Given the description of an element on the screen output the (x, y) to click on. 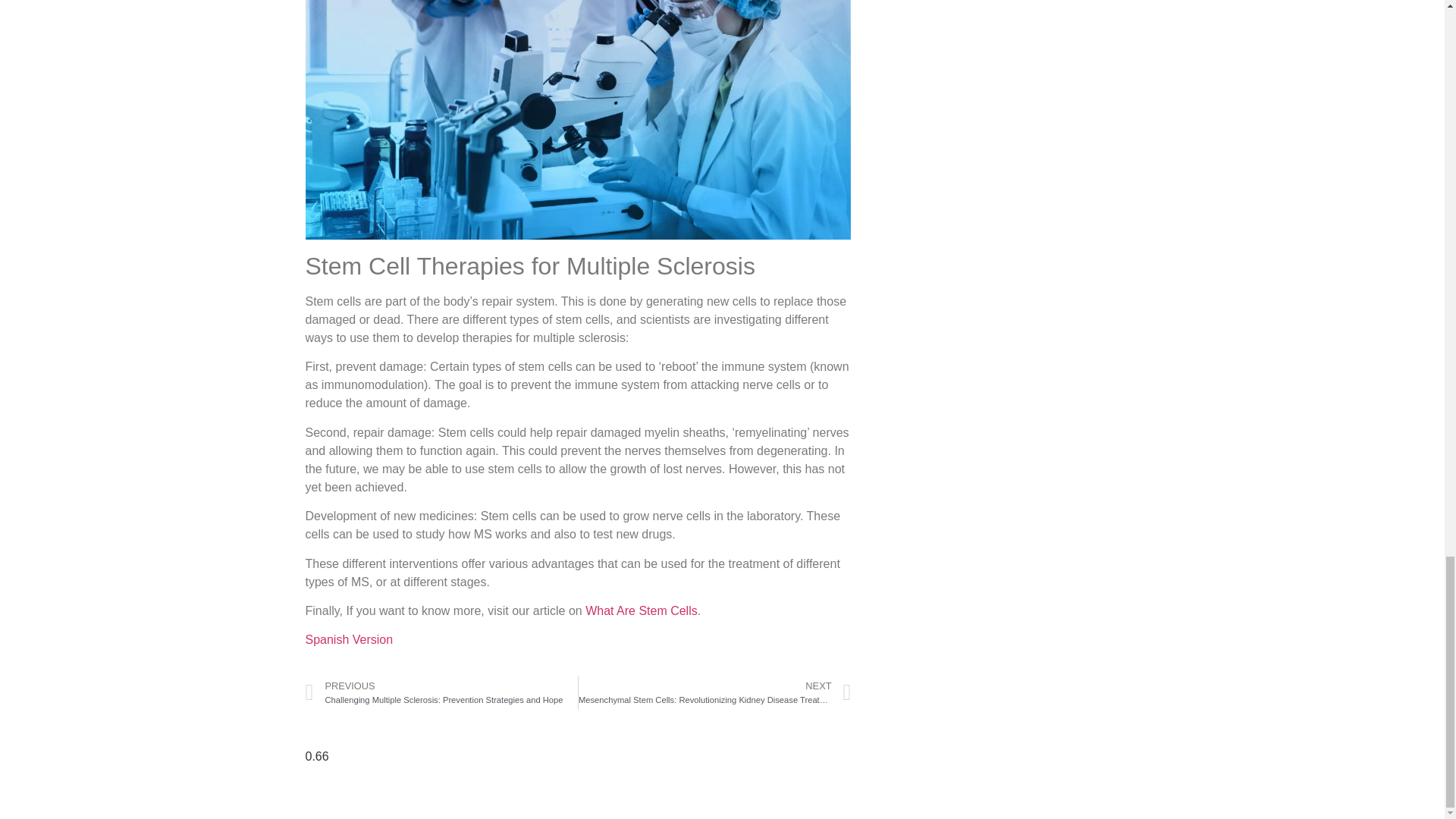
Spanish Version (348, 639)
What Are Stem Cells (641, 610)
